Given the description of an element on the screen output the (x, y) to click on. 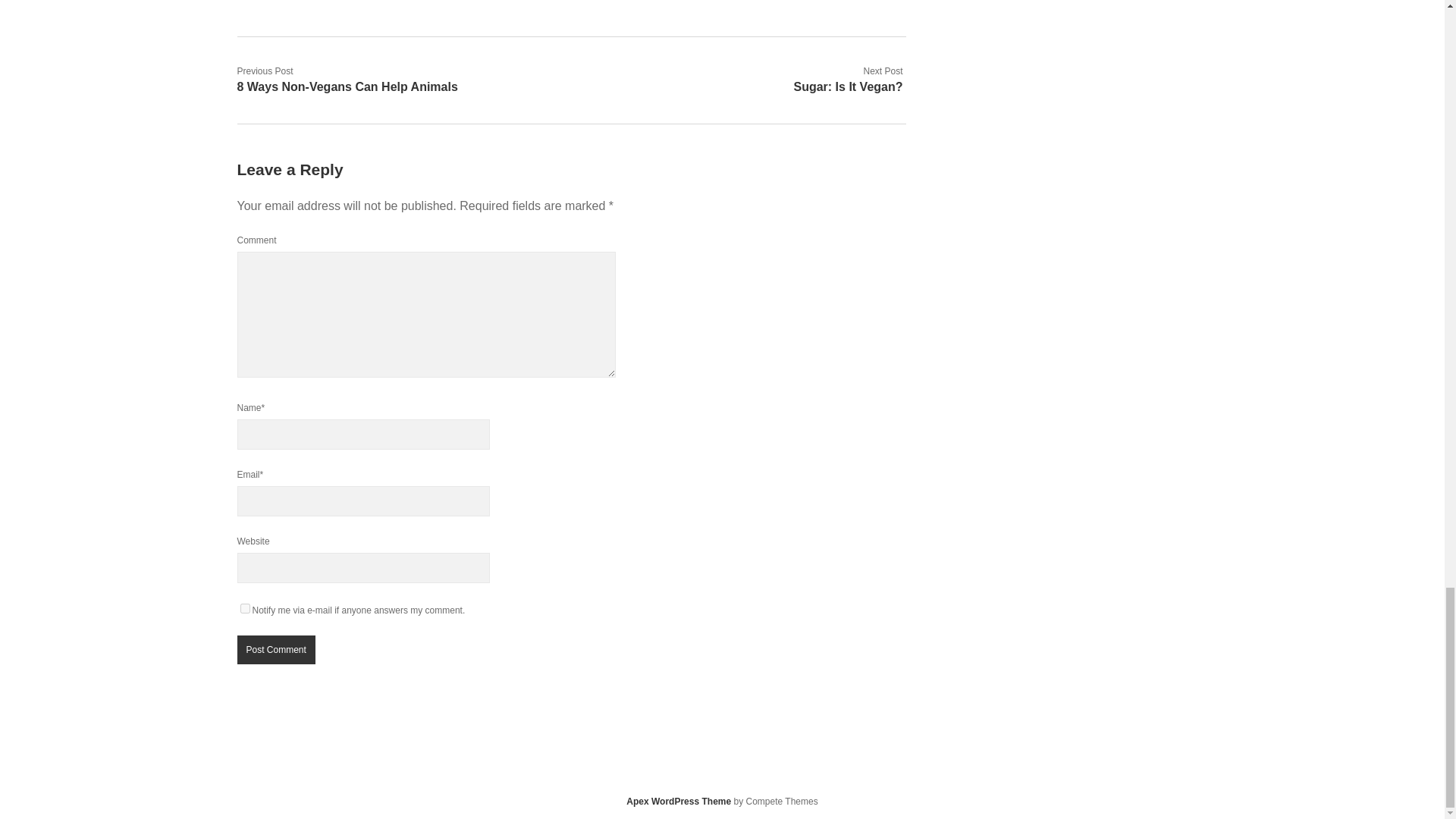
Post Comment (274, 649)
8 Ways Non-Vegans Can Help Animals (346, 86)
Post Comment (274, 649)
Sugar: Is It Vegan? (847, 86)
on (244, 608)
